Given the description of an element on the screen output the (x, y) to click on. 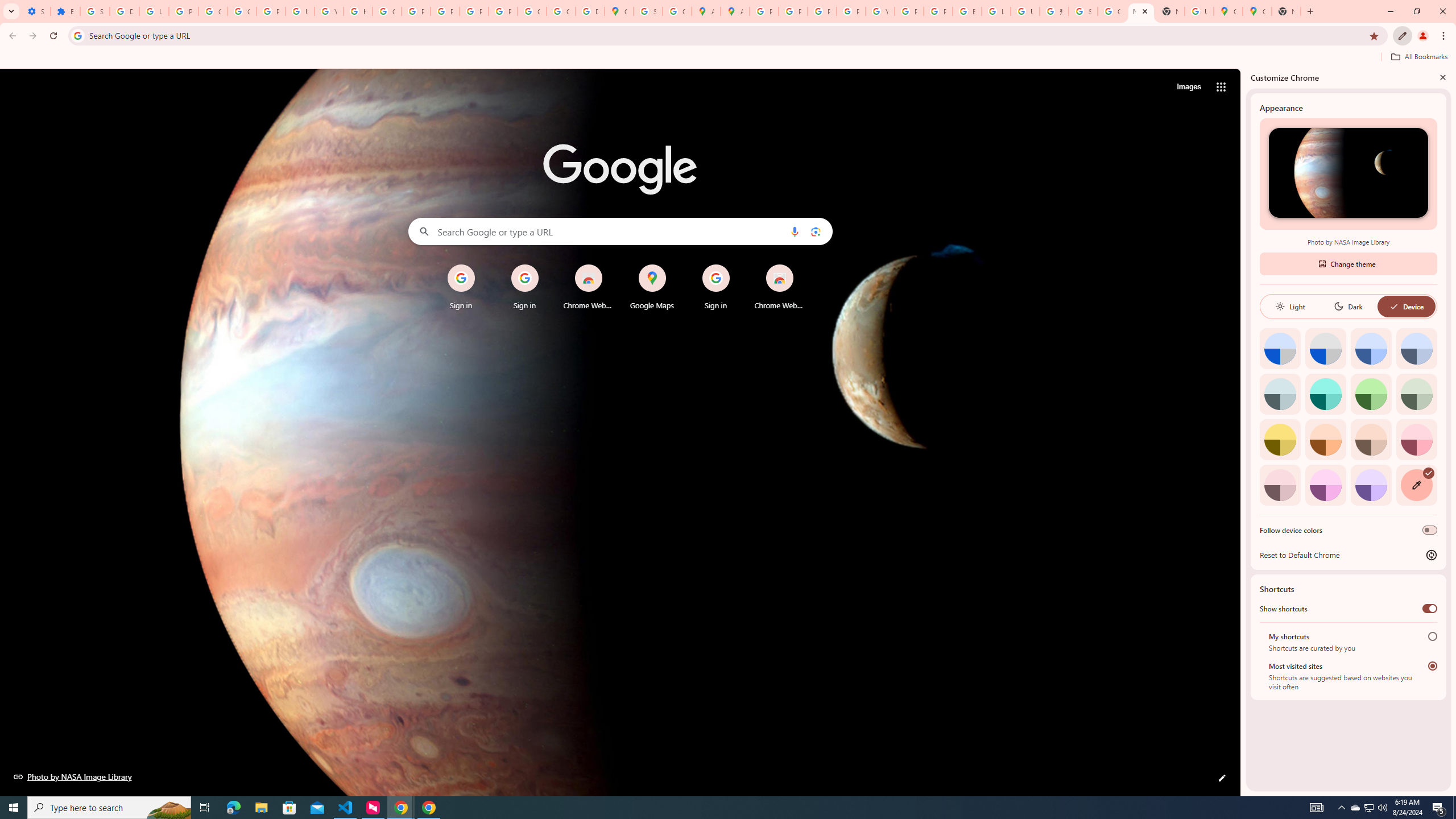
Sign in - Google Accounts (648, 11)
Cool grey (1416, 348)
Orange (1325, 439)
Sign in - Google Accounts (95, 11)
Violet (1371, 484)
Google Account Help (212, 11)
Light (1289, 305)
